Given the description of an element on the screen output the (x, y) to click on. 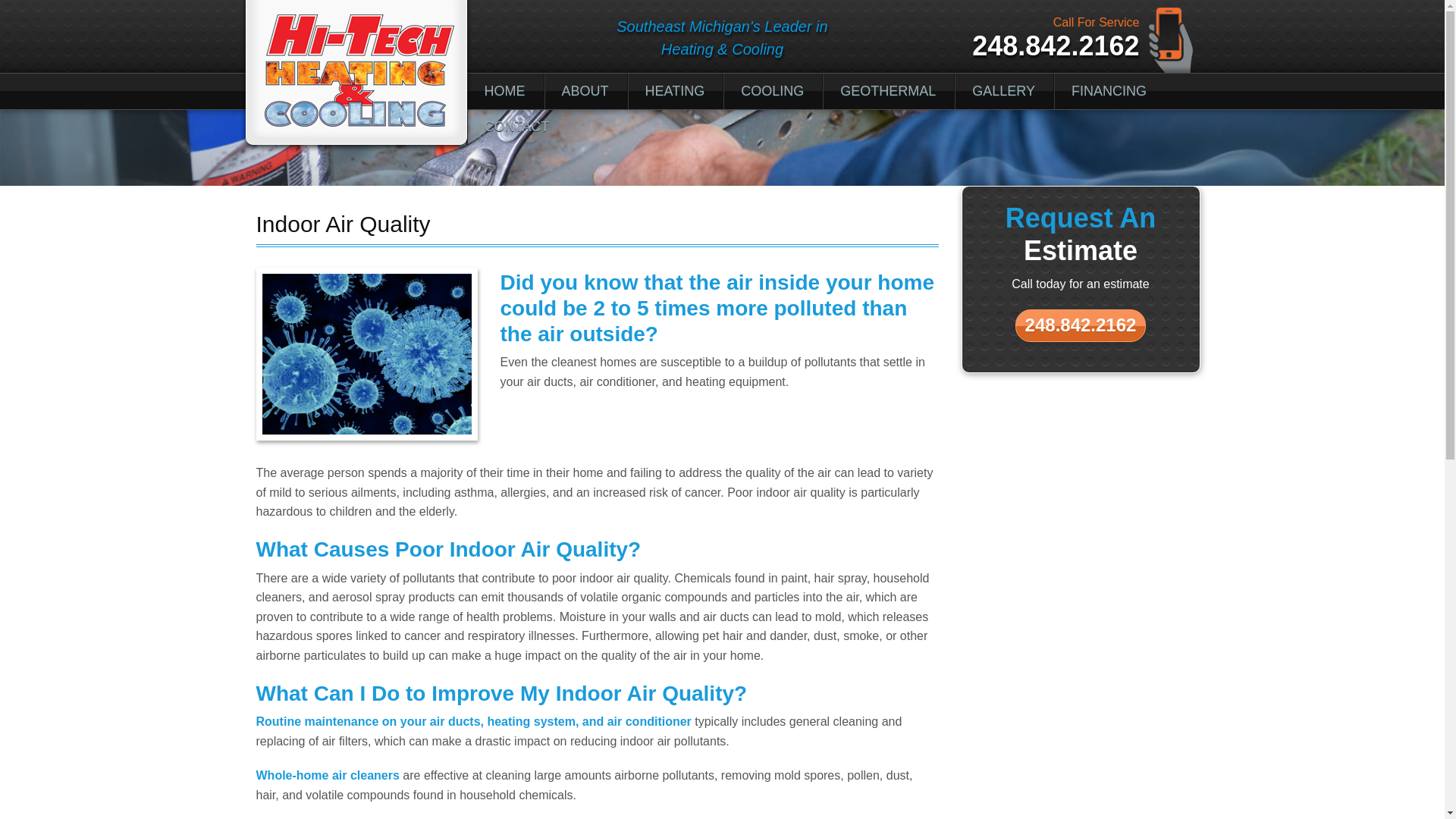
HEATING (675, 90)
AIR CONDITIONER REPAIR (772, 200)
HOME (504, 90)
FINANCING (1108, 90)
248.842.2162 (1080, 325)
ABOUT (584, 90)
FURNACE REPAIR (675, 200)
CONTACT (516, 126)
FURNACE MAINTENANCE (675, 163)
GEOTHERMAL (887, 90)
